Given the description of an element on the screen output the (x, y) to click on. 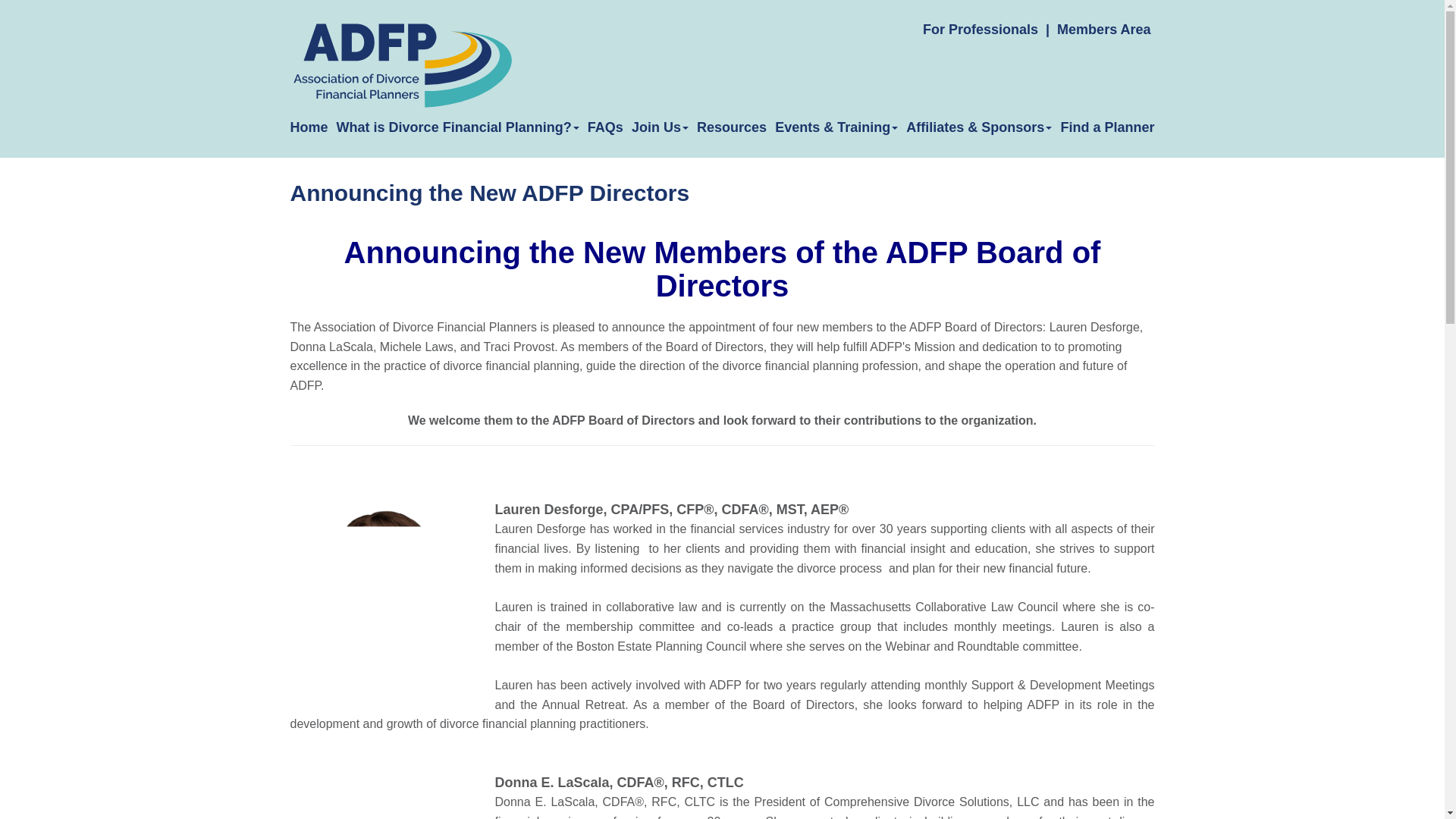
For Professionals (980, 29)
Members Area (1103, 29)
What is Divorce Financial Planning? (457, 127)
FAQs (605, 127)
Join Us (659, 127)
Find a Planner (1106, 127)
Resources (732, 127)
Home (308, 127)
